Given the description of an element on the screen output the (x, y) to click on. 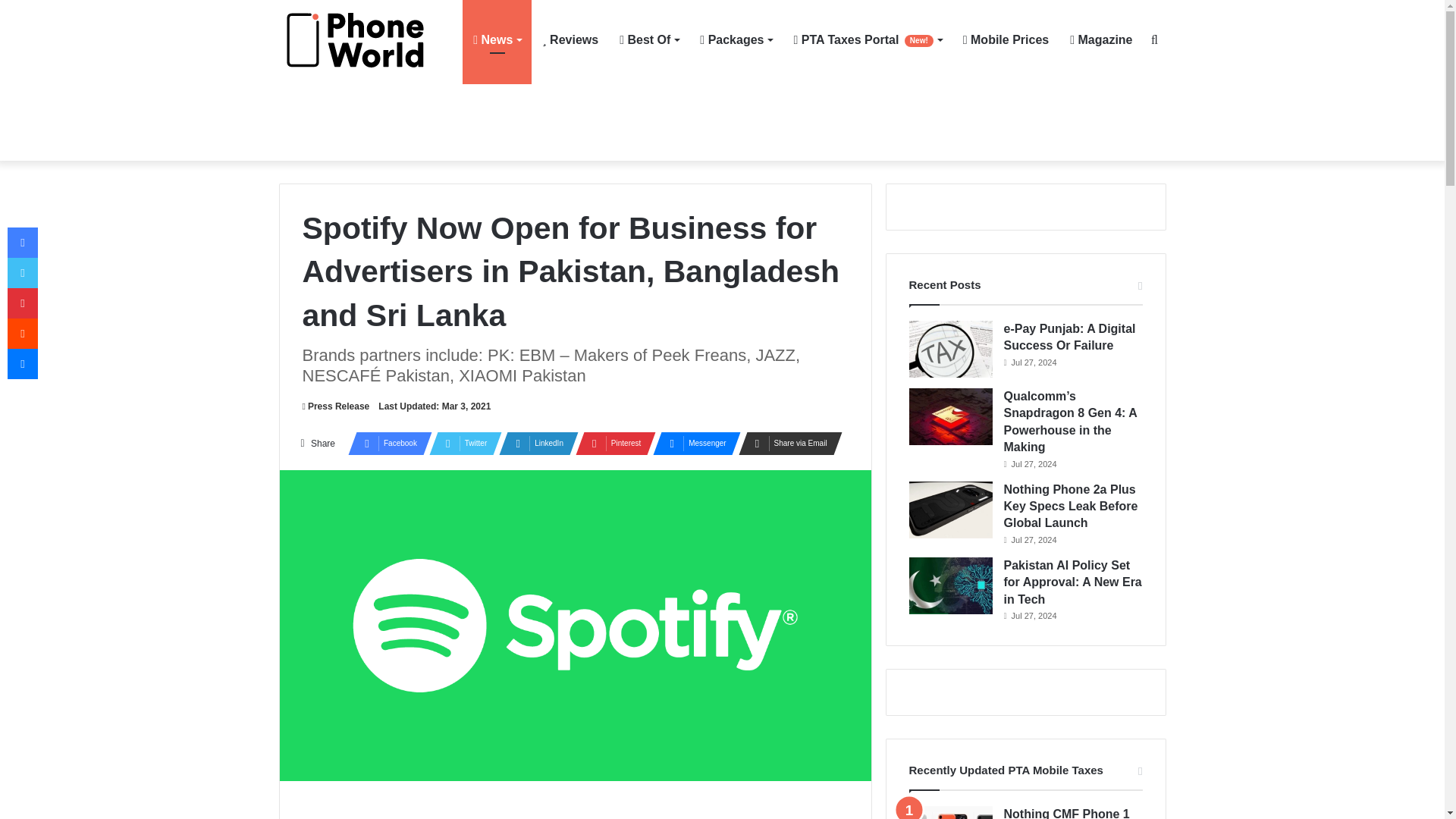
LinkedIn (534, 443)
Messenger (692, 443)
Pinterest (610, 443)
Share via Email (785, 443)
Packages (735, 40)
Reviews (569, 40)
Magazine (1100, 40)
PTA Taxes Portal New! (867, 40)
PhoneWorld (362, 40)
Press Release (335, 406)
Twitter (461, 443)
Mobile Prices (1005, 40)
Facebook (385, 443)
Best Of (648, 40)
